Given the description of an element on the screen output the (x, y) to click on. 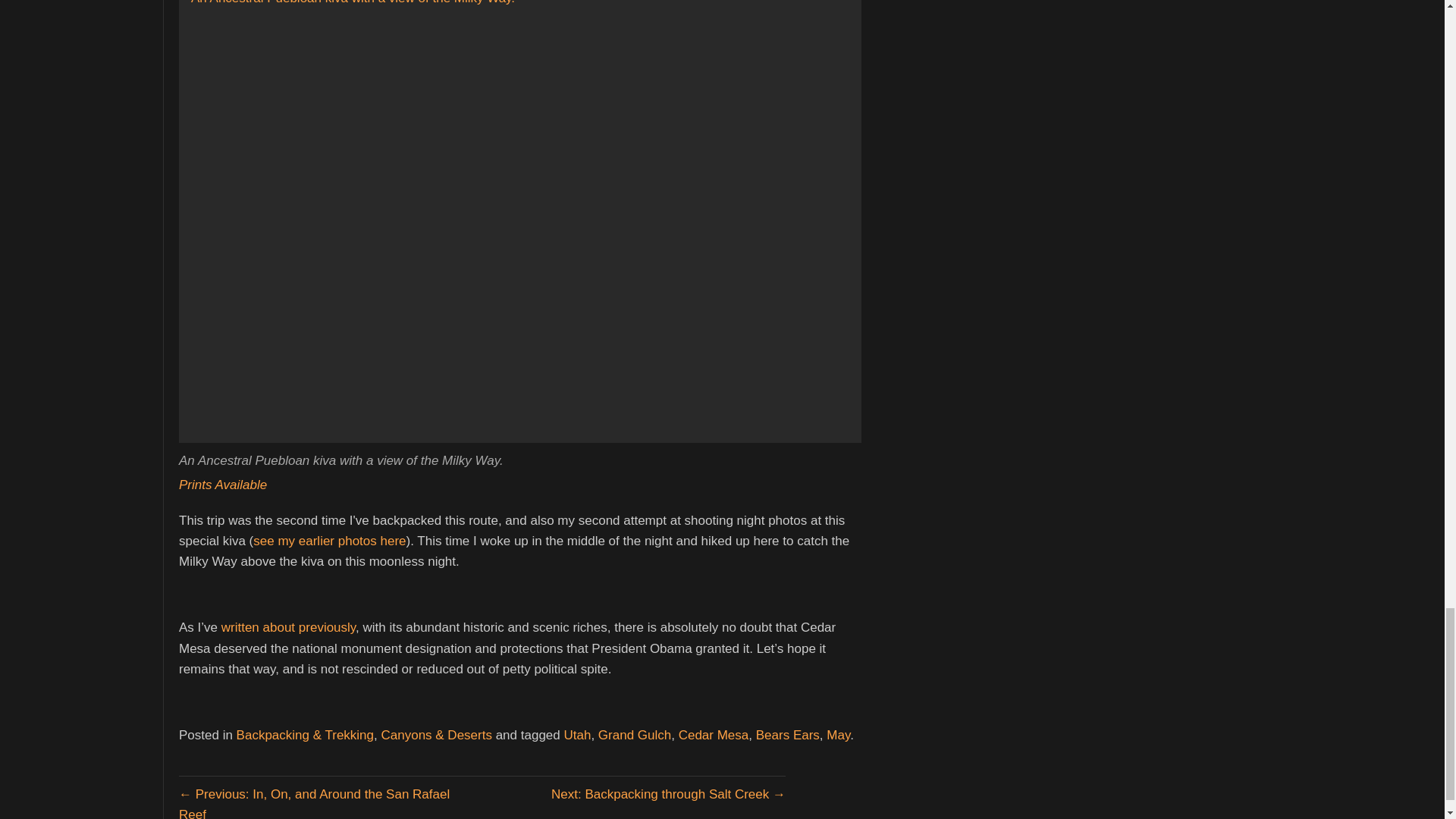
May (838, 735)
Utah (577, 735)
Bears Ears (787, 735)
Grand Gulch (634, 735)
Prints Available (222, 484)
see my earlier photos here (329, 540)
written about previously (288, 626)
Cedar Mesa (713, 735)
